Given the description of an element on the screen output the (x, y) to click on. 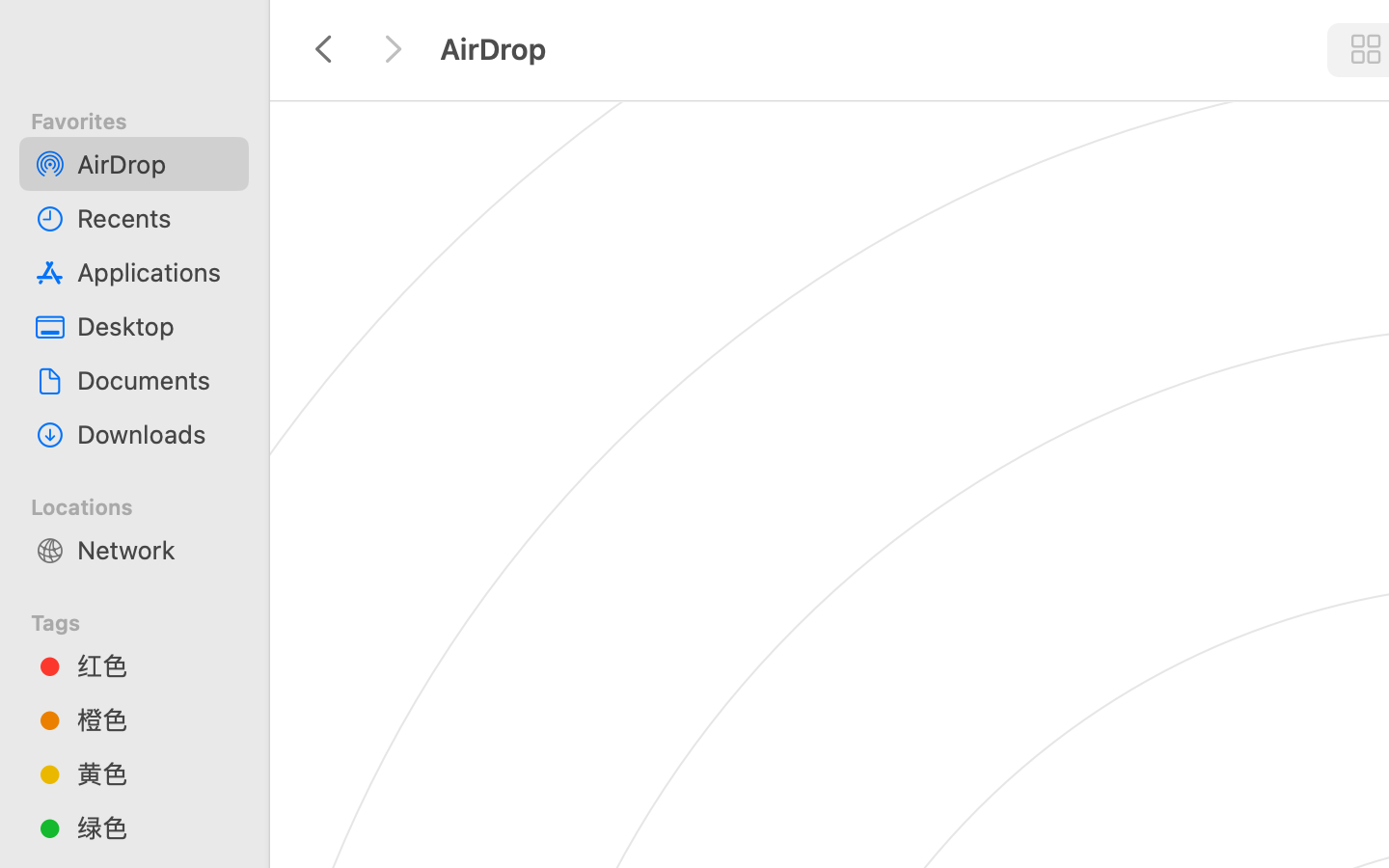
红色 Element type: AXStaticText (155, 665)
Applications Element type: AXStaticText (155, 271)
Downloads Element type: AXStaticText (155, 433)
Favorites Element type: AXStaticText (145, 118)
黄色 Element type: AXStaticText (155, 773)
